Given the description of an element on the screen output the (x, y) to click on. 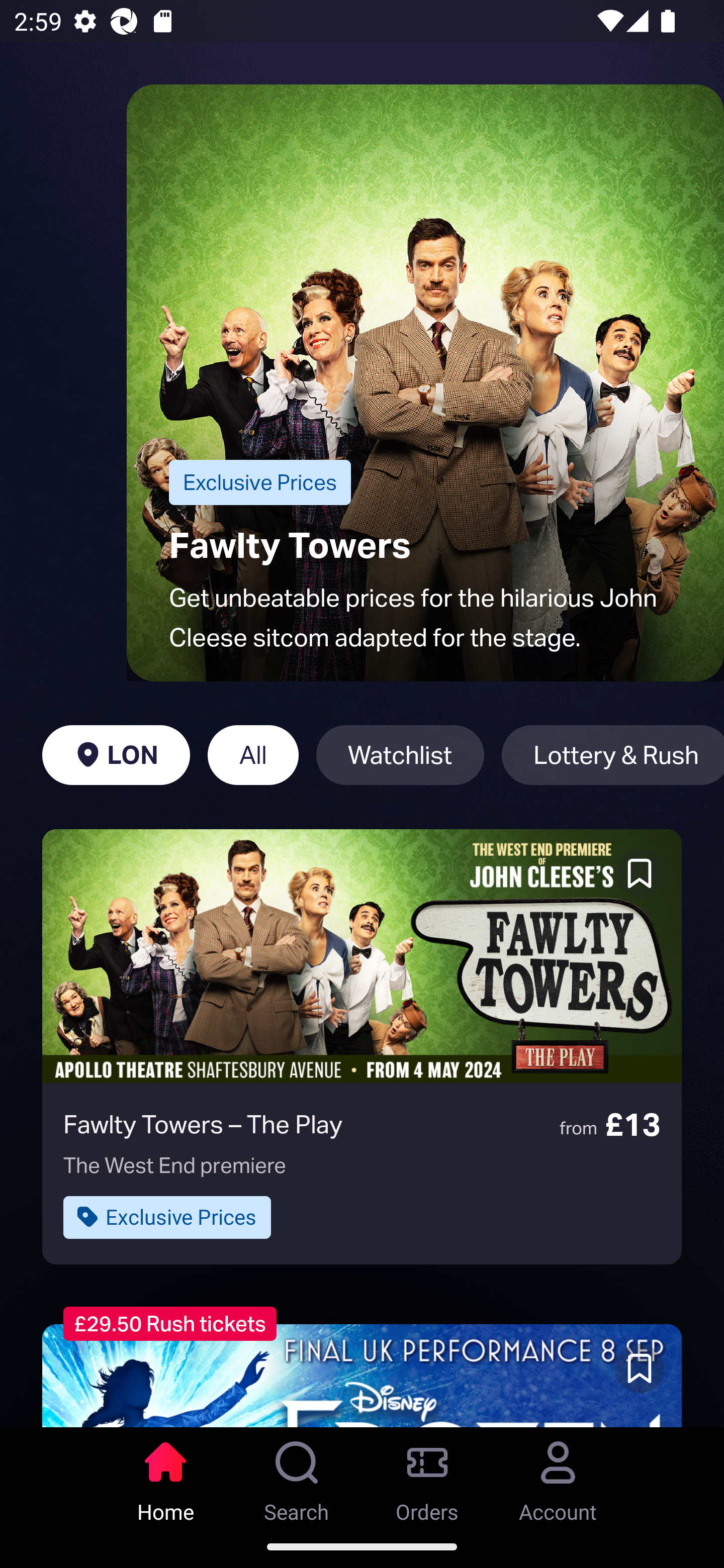
LON (115, 754)
All (252, 754)
Watchlist (400, 754)
Lottery & Rush (612, 754)
Search (296, 1475)
Orders (427, 1475)
Account (558, 1475)
